Given the description of an element on the screen output the (x, y) to click on. 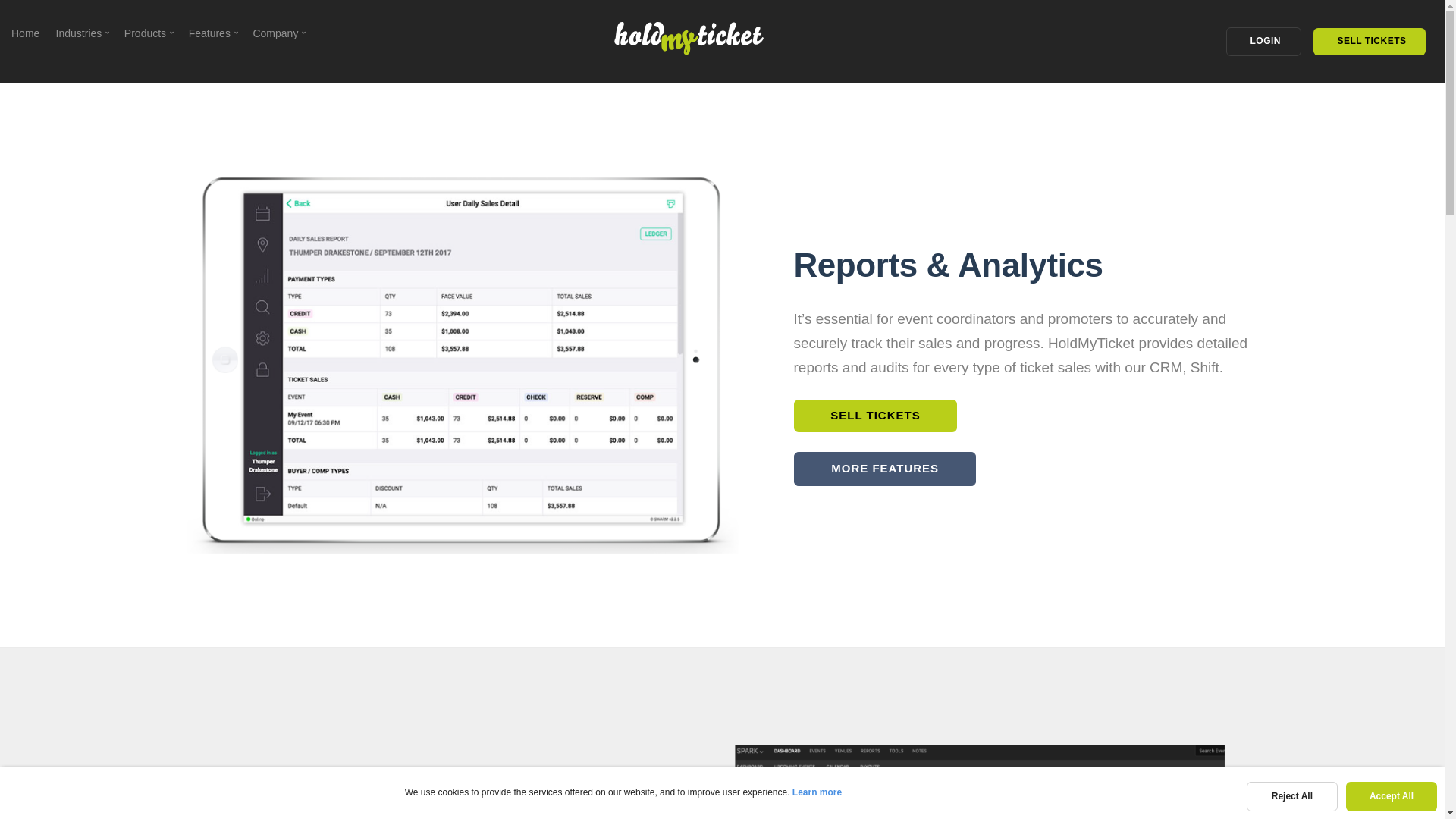
Home (25, 33)
